Given the description of an element on the screen output the (x, y) to click on. 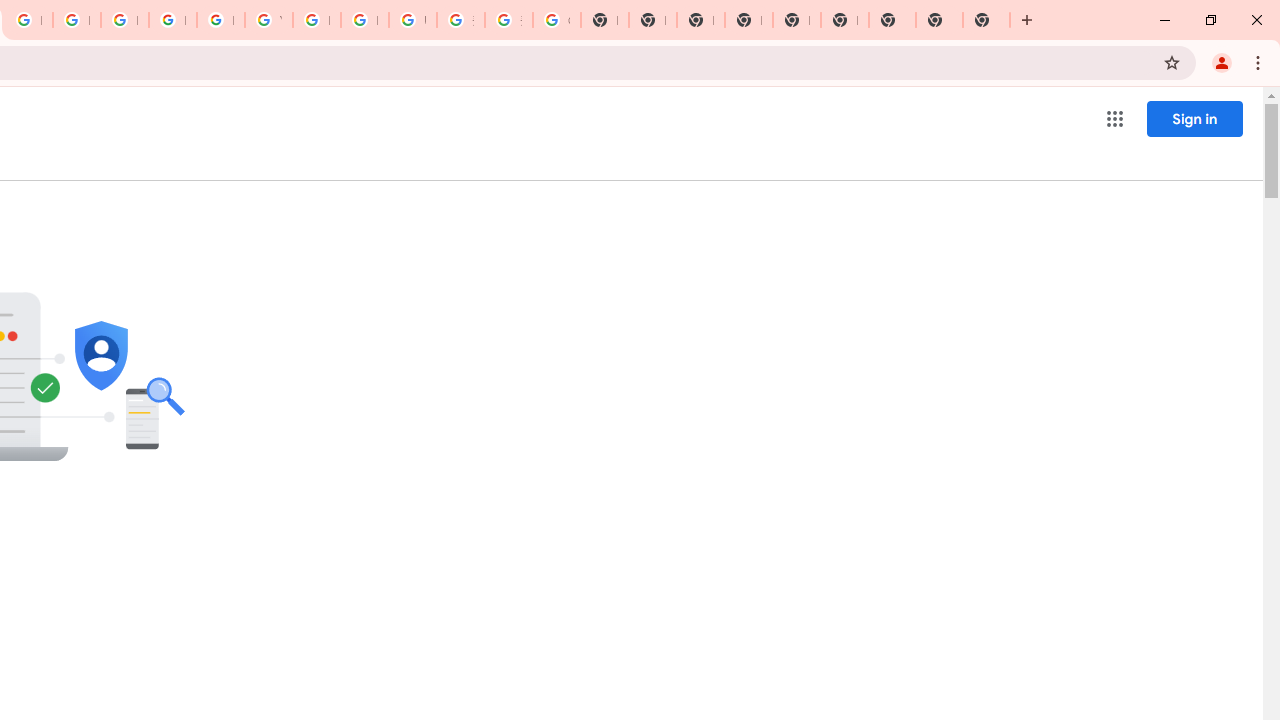
YouTube (268, 20)
New Tab (748, 20)
New Tab (985, 20)
